Given the description of an element on the screen output the (x, y) to click on. 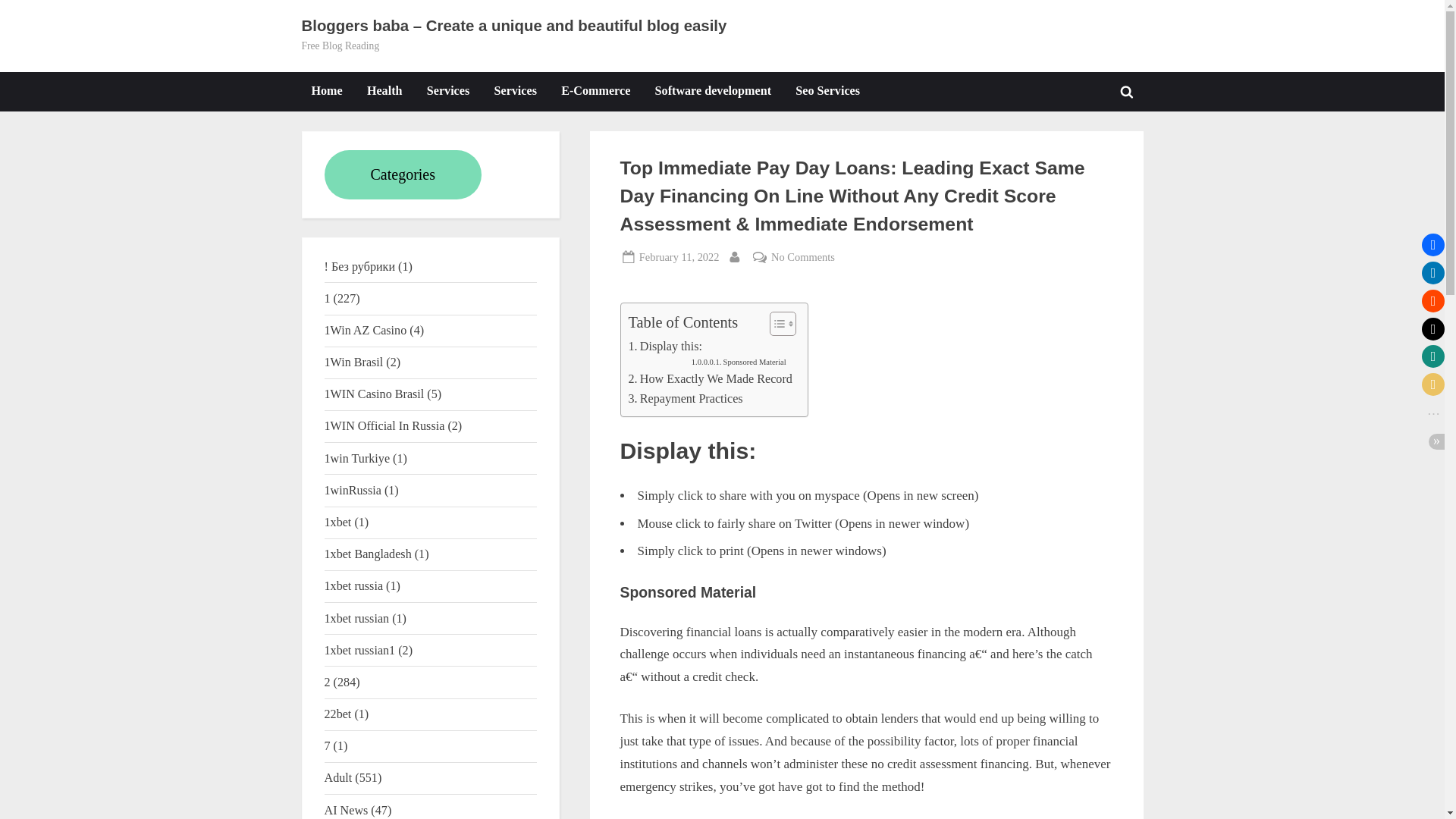
How Exactly We Made Record (709, 379)
1Win AZ Casino (365, 329)
Sponsored Material (738, 362)
E-Commerce (595, 91)
Seo Services (679, 257)
1WIN Official In Russia (827, 91)
Display this: (384, 425)
Sponsored Material (664, 346)
Display this: (738, 362)
Toggle search form (664, 346)
1xbet (1126, 91)
Health (338, 521)
1winRussia (384, 91)
1xbet russian1 (352, 490)
